Given the description of an element on the screen output the (x, y) to click on. 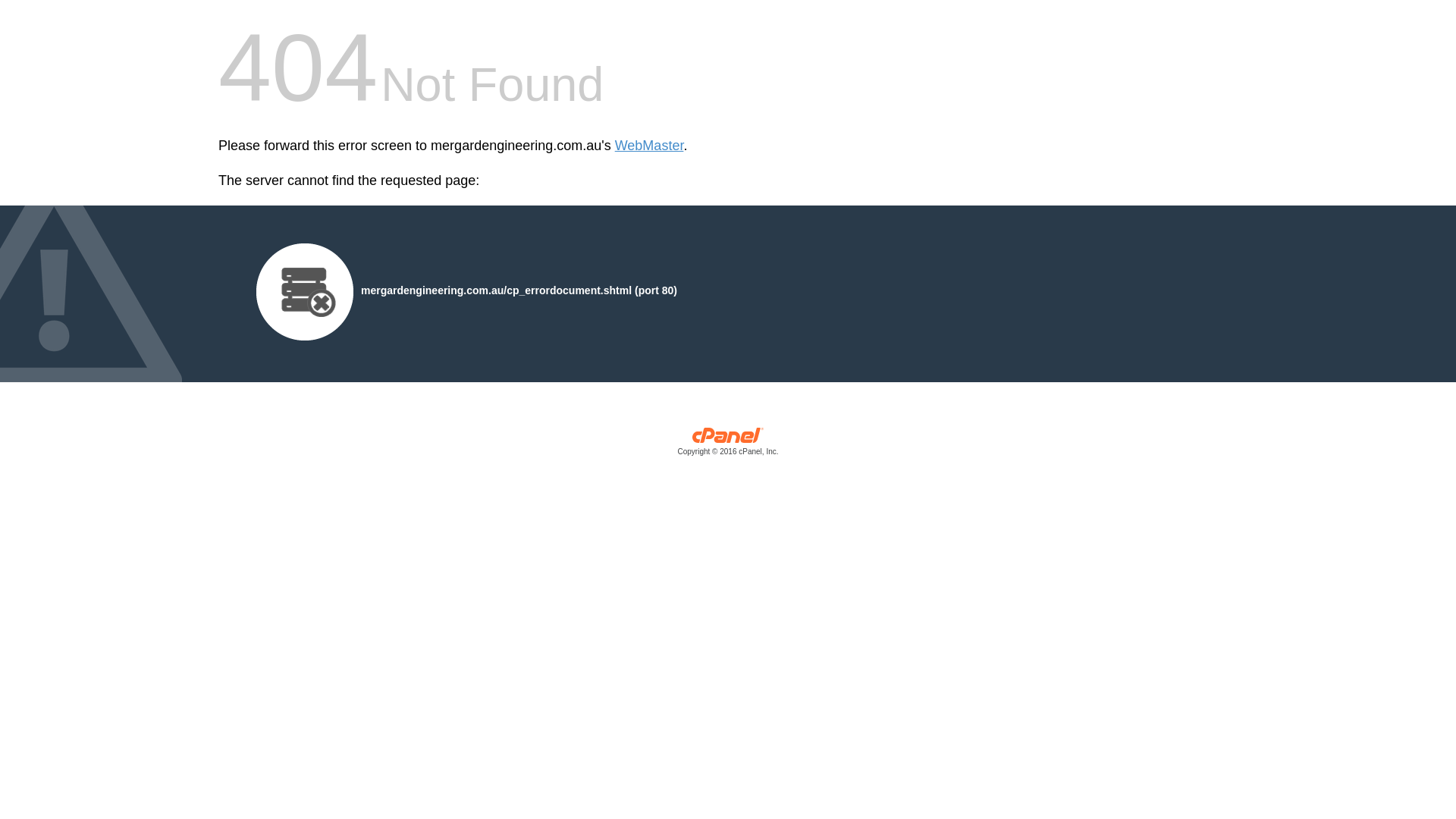
WebMaster Element type: text (649, 145)
